Given the description of an element on the screen output the (x, y) to click on. 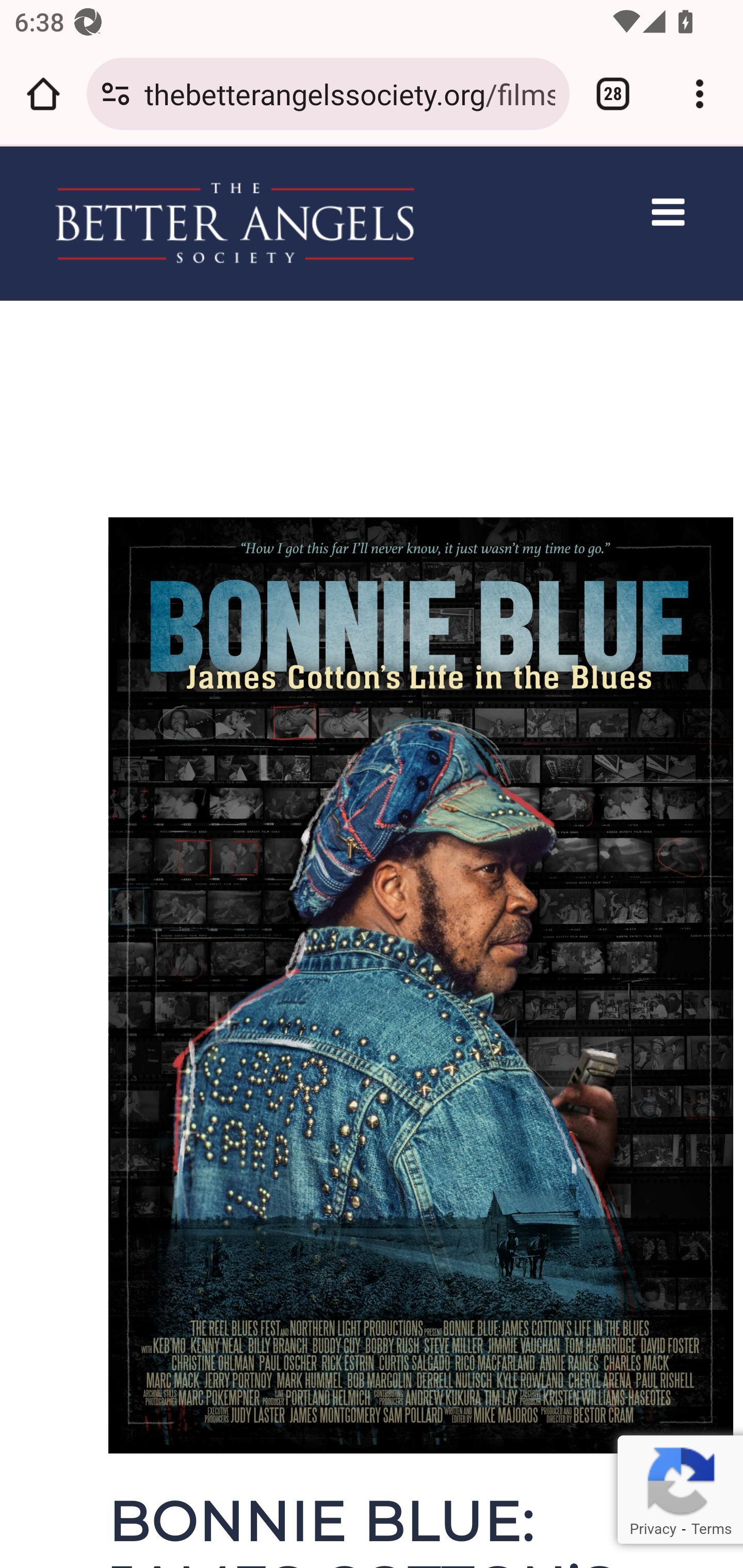
Open the home page (43, 93)
Connection is secure (115, 93)
Switch or close tabs (612, 93)
Customize and control Google Chrome (699, 93)
The Better Angels Society Logo (235, 222)
Toggle mobile menu  (670, 211)
